Given the description of an element on the screen output the (x, y) to click on. 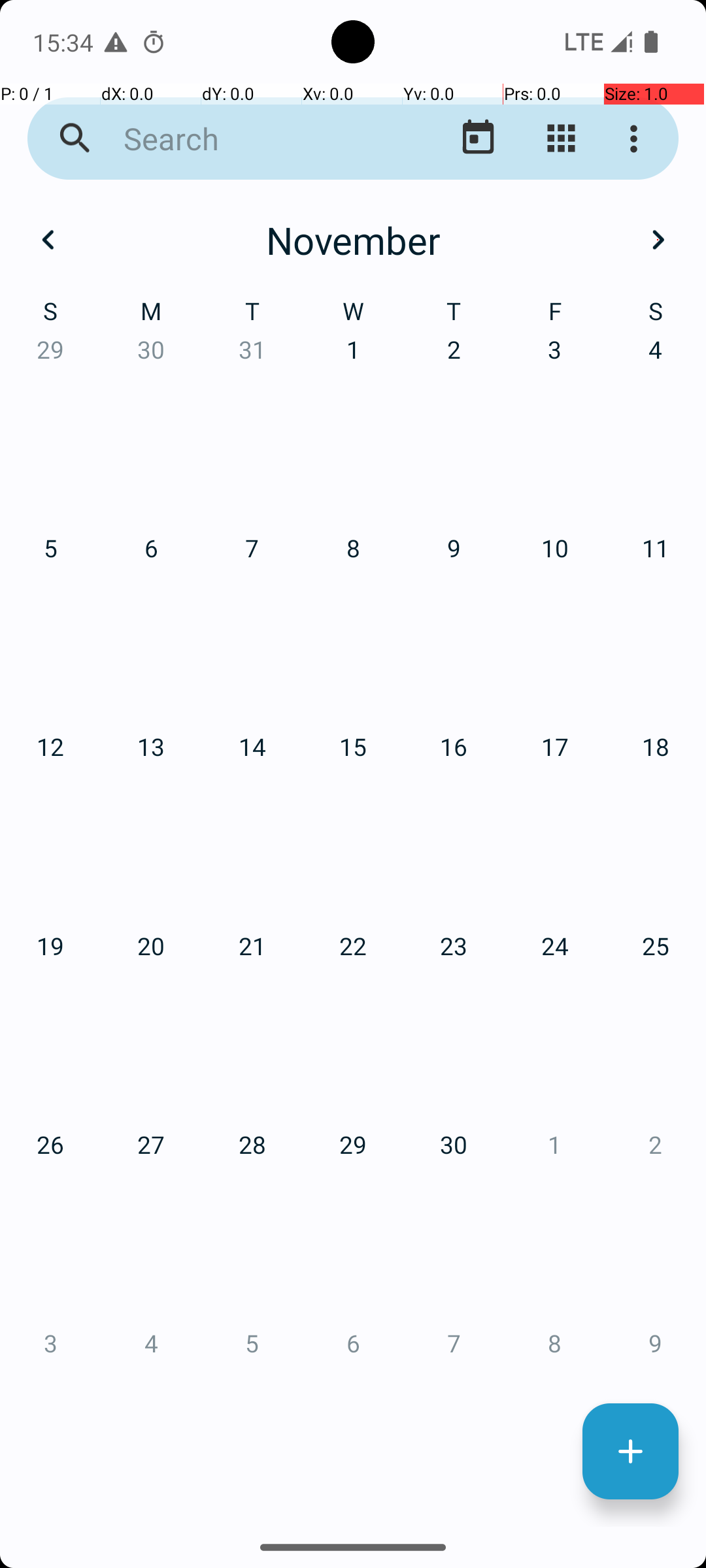
November Element type: android.widget.TextView (352, 239)
